Given the description of an element on the screen output the (x, y) to click on. 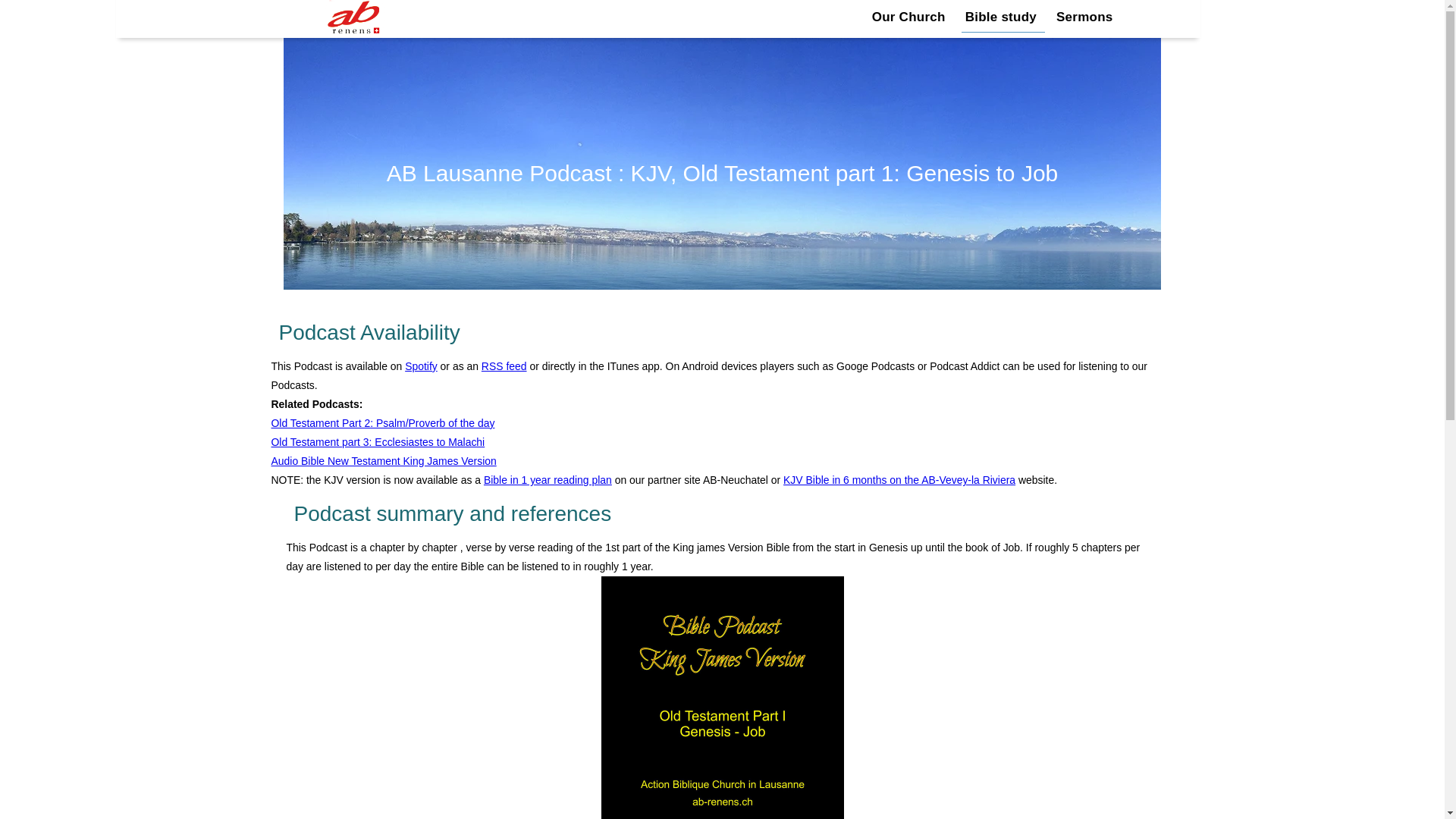
Spotify (421, 366)
Bible study (1002, 17)
KJV Bible in 6 months on the AB-Vevey-la Riviera (898, 480)
Old Testament part 3: Ecclesiastes to Malachi (377, 441)
Our Church (910, 17)
RSS feed (504, 366)
Audio Bible New Testament King James Version (383, 460)
Sermons (1084, 17)
Bible in 1 year reading plan (547, 480)
